Given the description of an element on the screen output the (x, y) to click on. 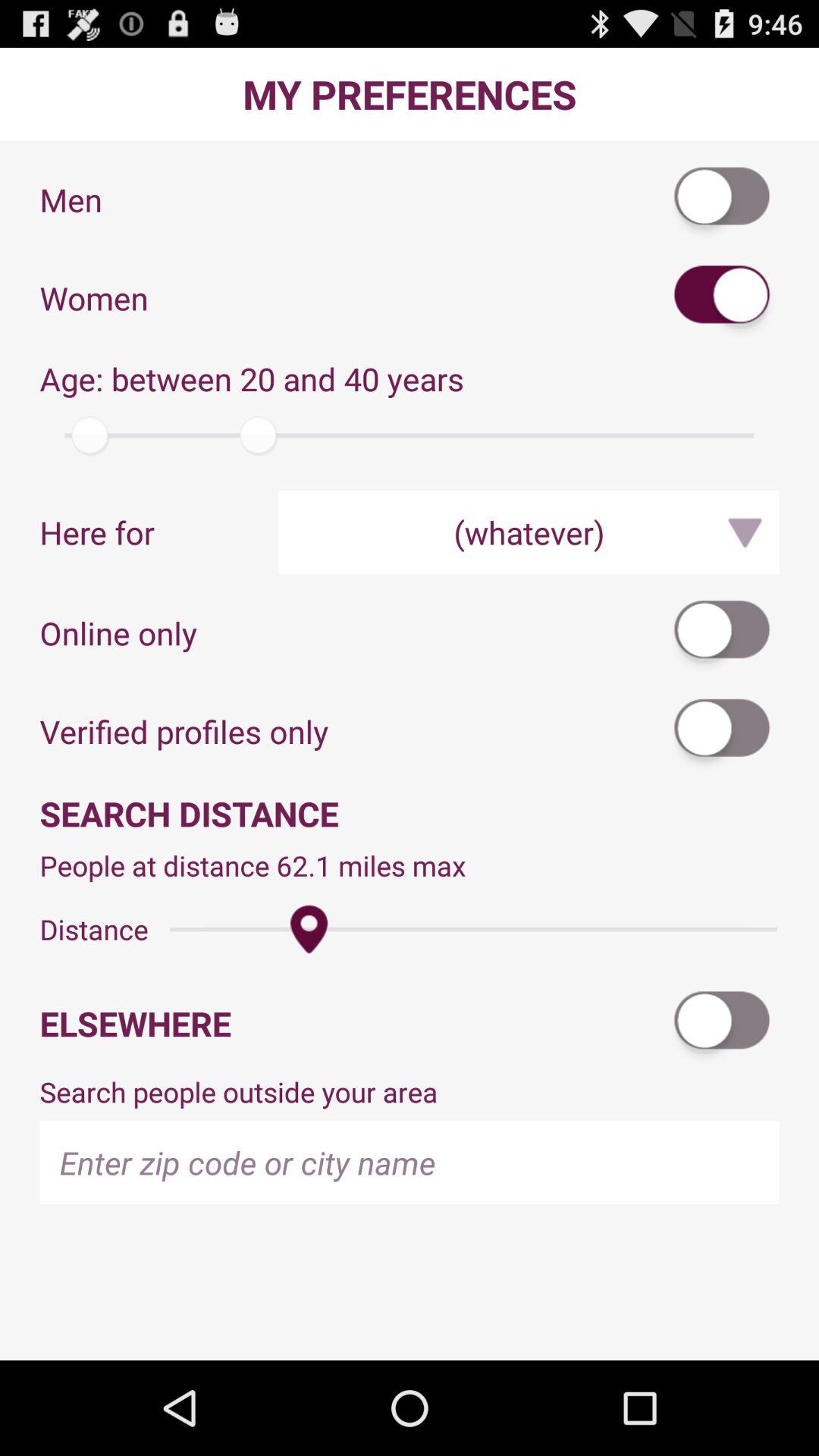
turn off the my preferences app (409, 93)
